Given the description of an element on the screen output the (x, y) to click on. 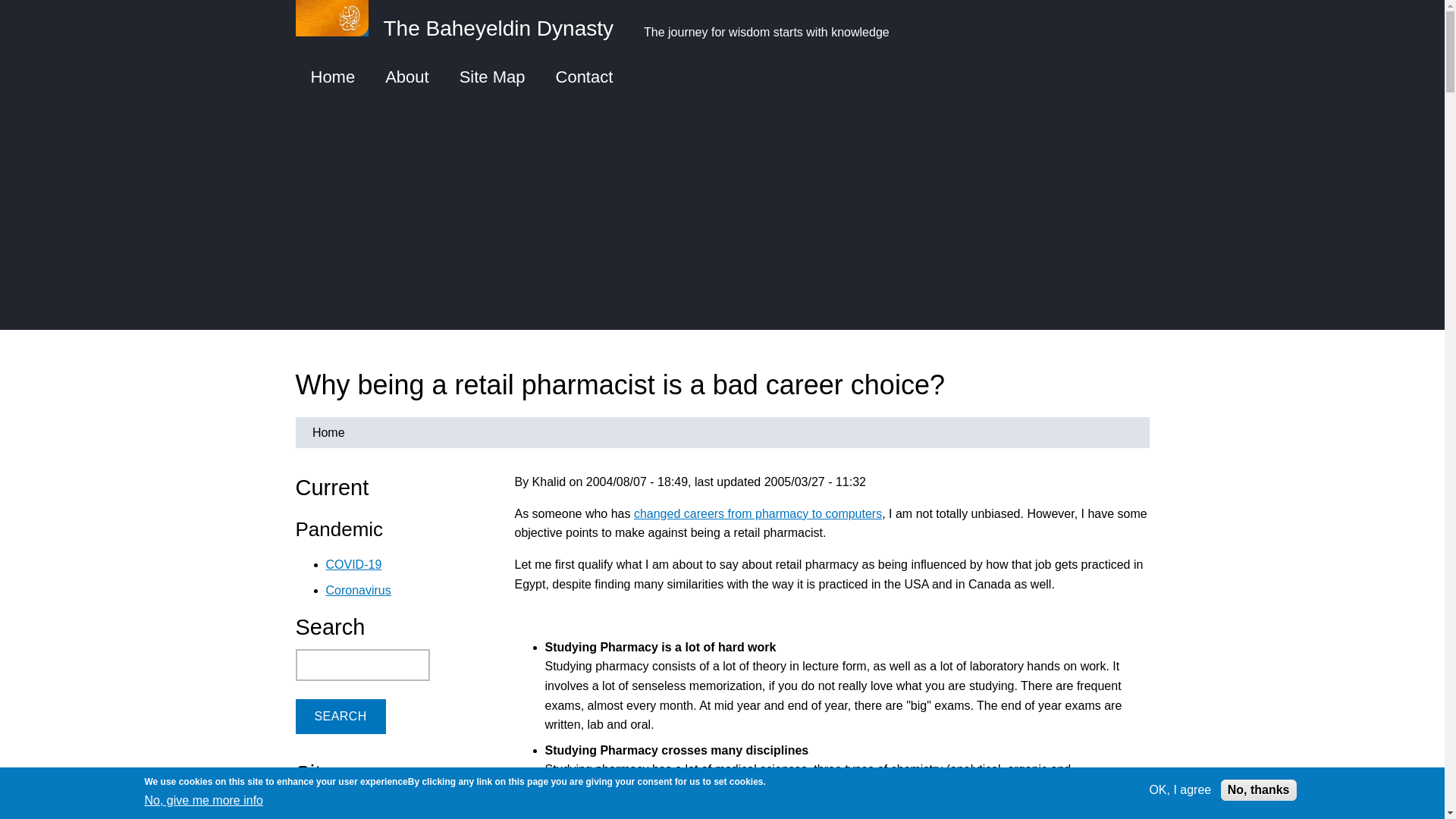
Enter the keywords you wish to search for. (362, 664)
Contact (584, 76)
The Baheyeldin Dynasty (461, 25)
Home (333, 76)
changed careers from pharmacy to computers (757, 513)
About (406, 76)
Site Map (492, 76)
Home (461, 25)
Search (340, 716)
Home (328, 432)
